Given the description of an element on the screen output the (x, y) to click on. 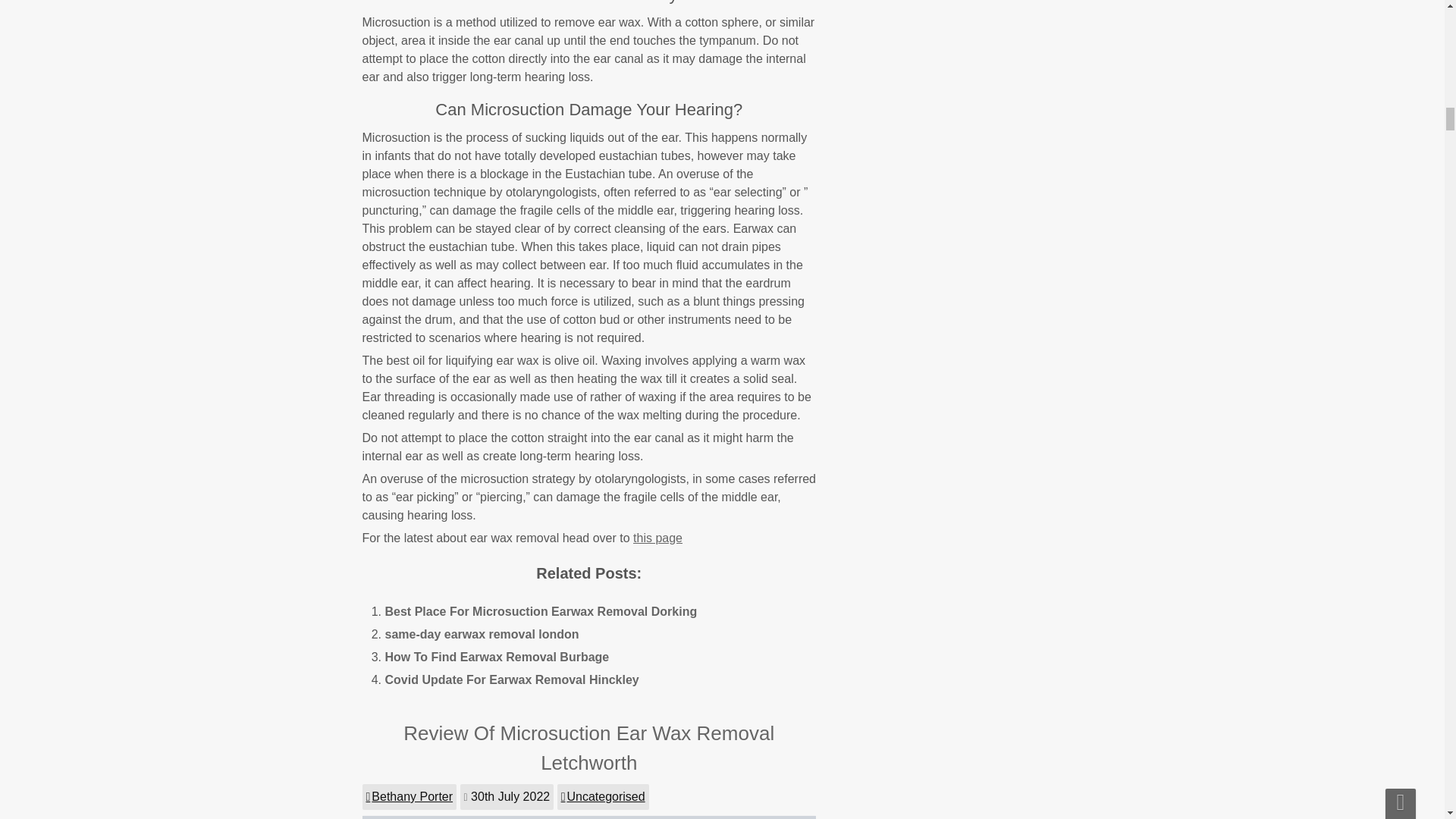
Bethany Porter (409, 796)
same-day earwax removal london (482, 634)
Review Of Microsuction Ear Wax Removal Letchworth (588, 747)
How To Find Earwax Removal Burbage (497, 656)
Uncategorised (603, 796)
Covid Update For Earwax Removal Hinckley (512, 679)
Best Place For Microsuction Earwax Removal Dorking (541, 611)
this page (657, 537)
